Given the description of an element on the screen output the (x, y) to click on. 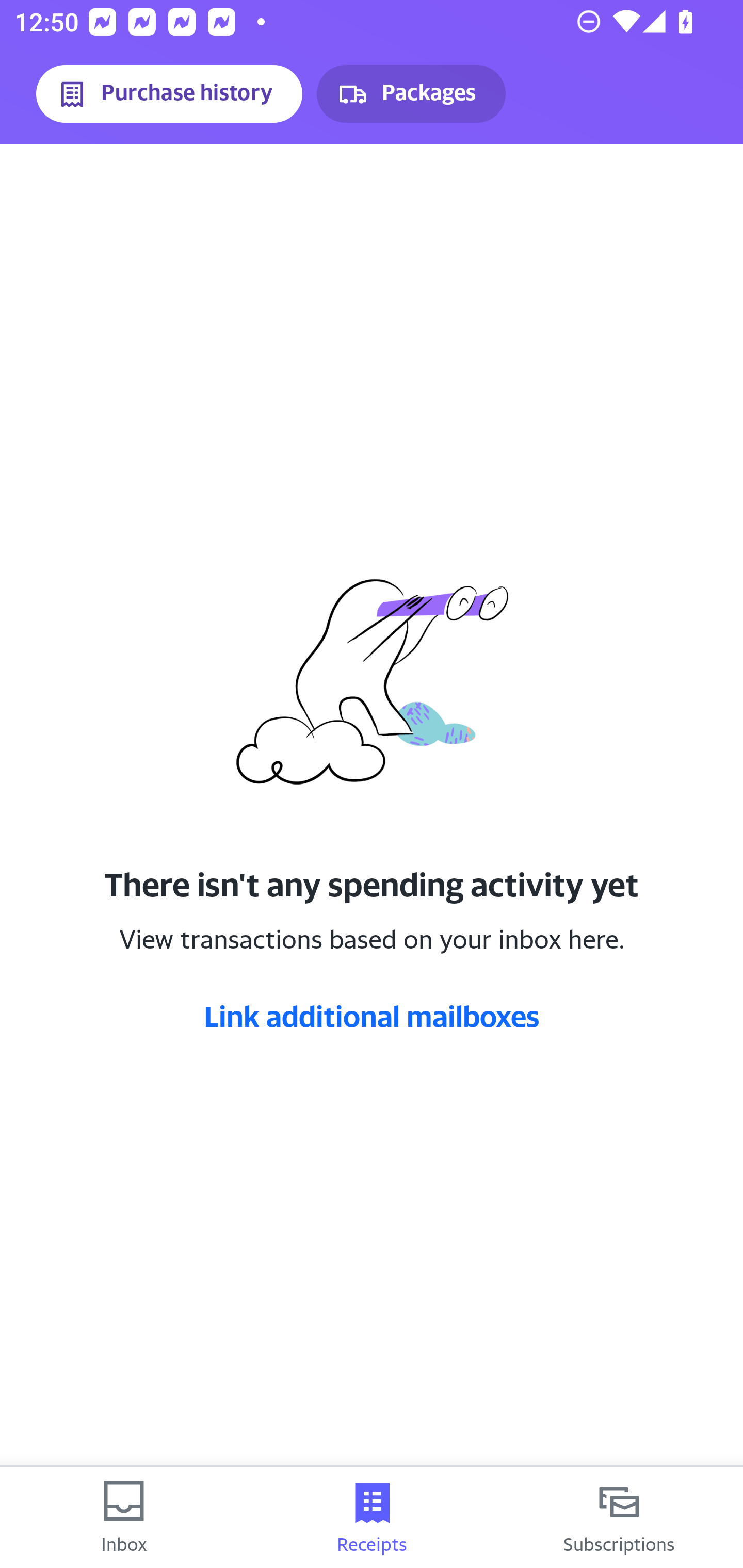
Packages (410, 93)
Link additional mailboxes (371, 1015)
Inbox (123, 1517)
Receipts (371, 1517)
Subscriptions (619, 1517)
